Given the description of an element on the screen output the (x, y) to click on. 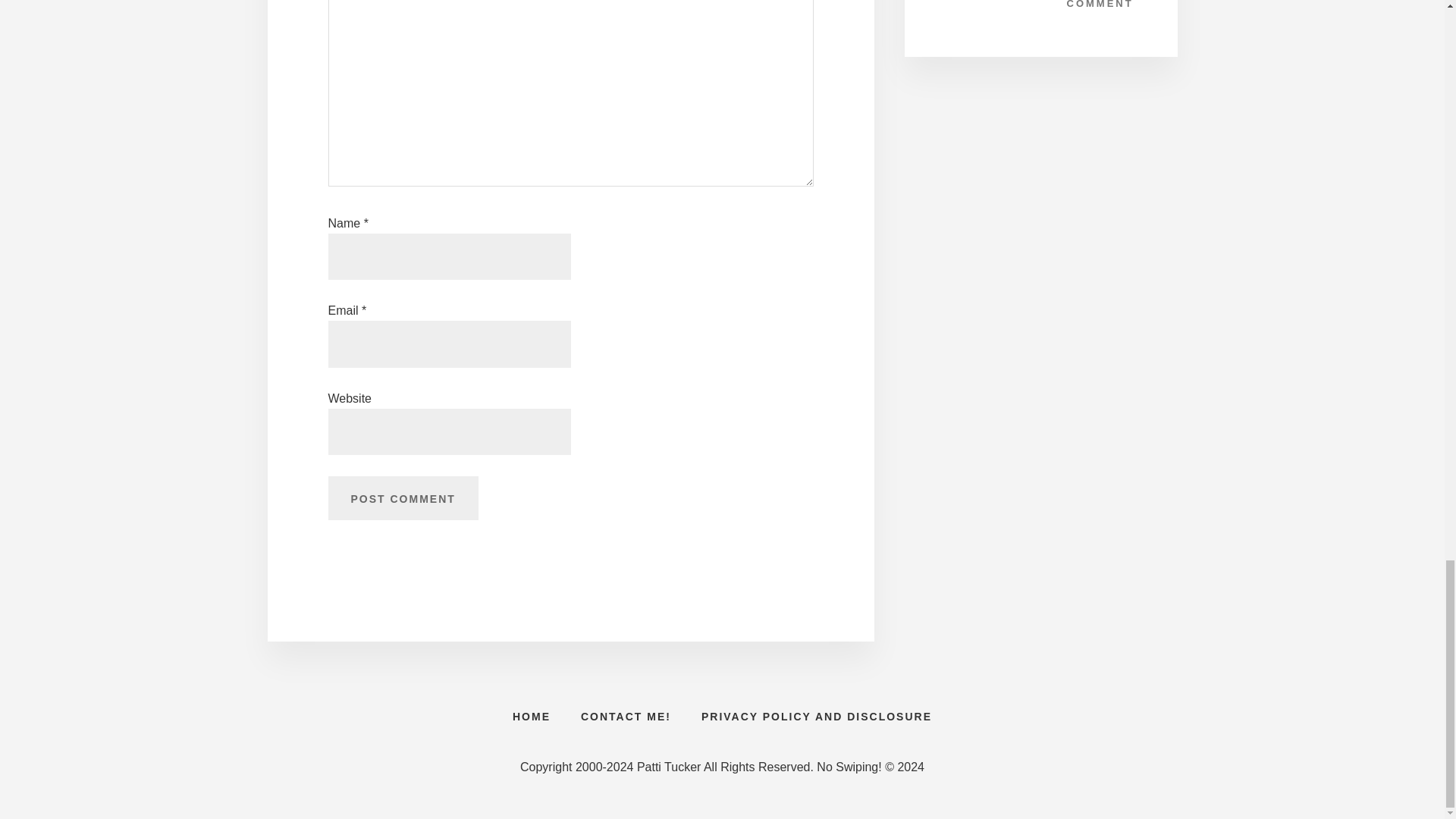
Post Comment (402, 497)
Post Comment (402, 497)
